Given the description of an element on the screen output the (x, y) to click on. 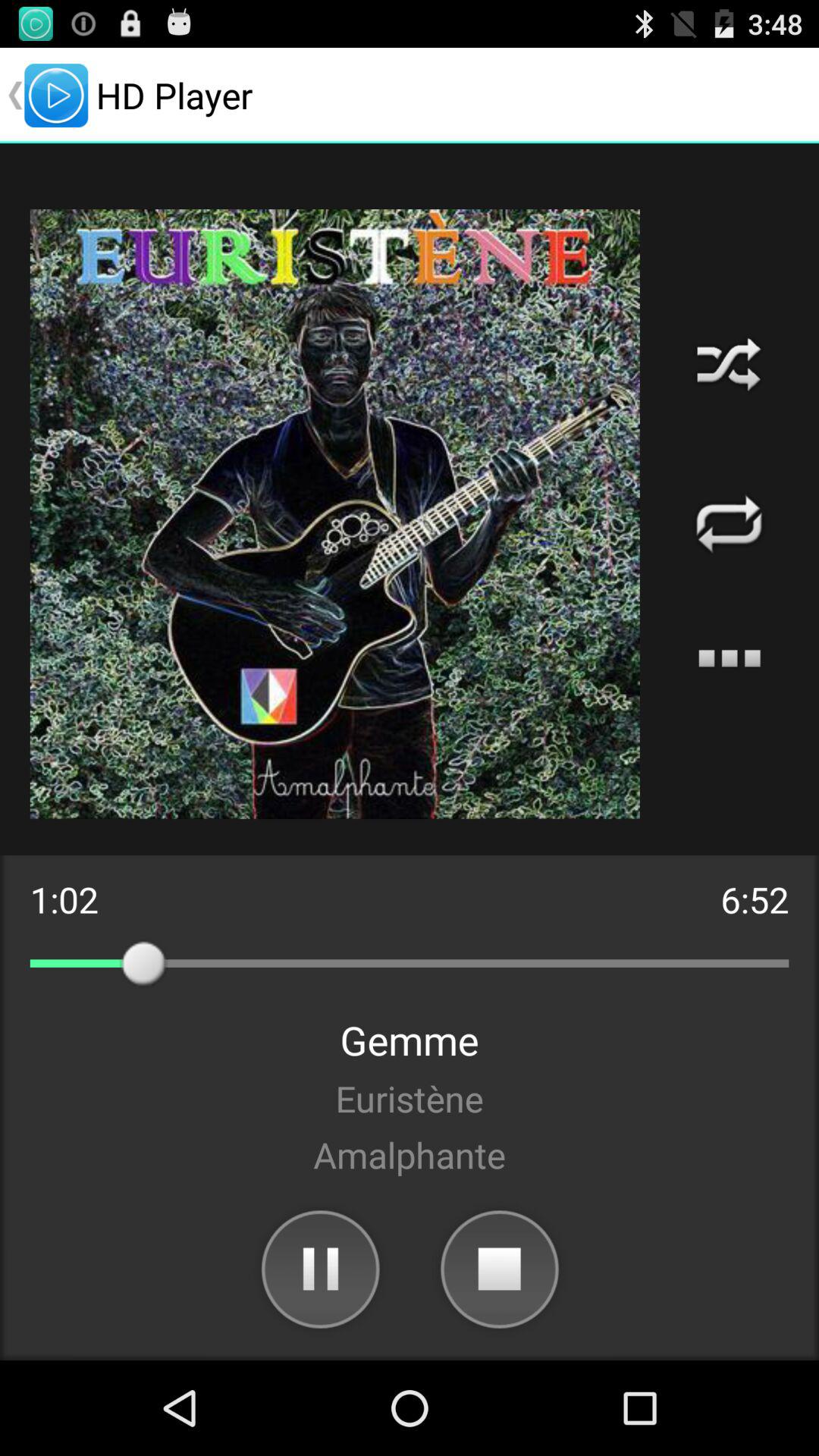
click app below amalphante item (319, 1268)
